Given the description of an element on the screen output the (x, y) to click on. 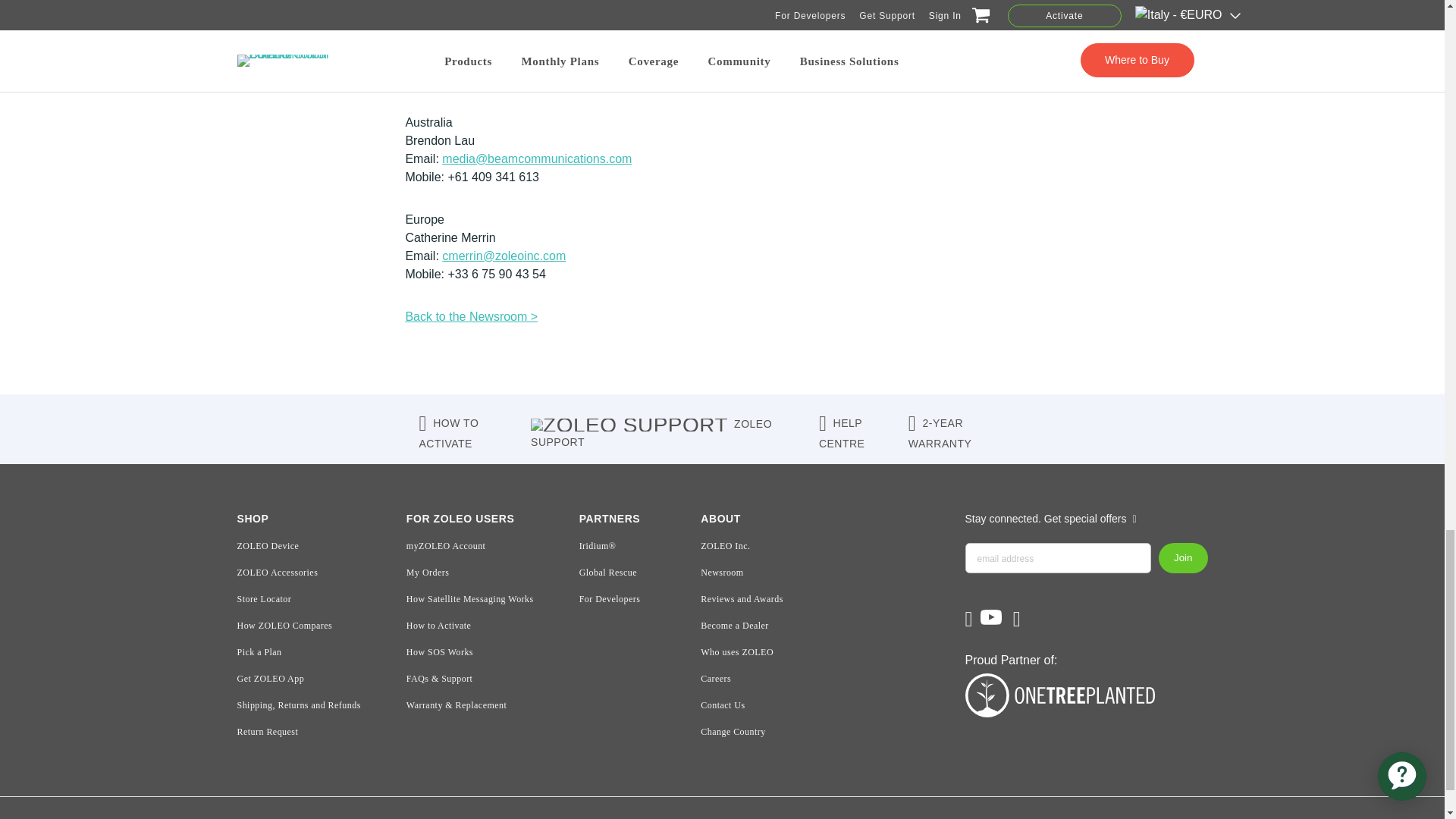
One Tree Planted Logo (1085, 701)
Youtube (992, 621)
Join (1182, 557)
ZOLEO Newsroom (470, 316)
